Given the description of an element on the screen output the (x, y) to click on. 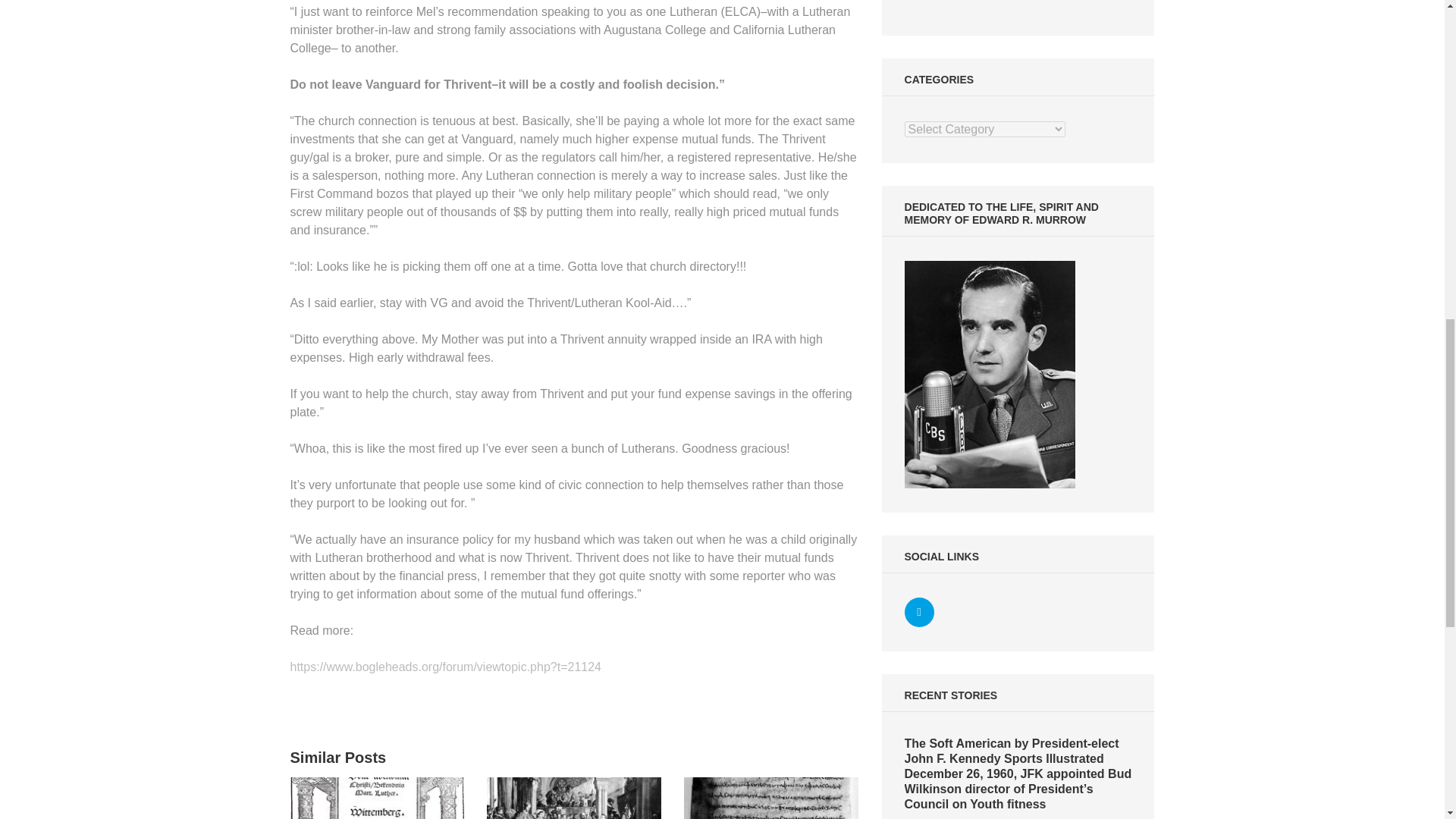
Twitter (919, 612)
